Given the description of an element on the screen output the (x, y) to click on. 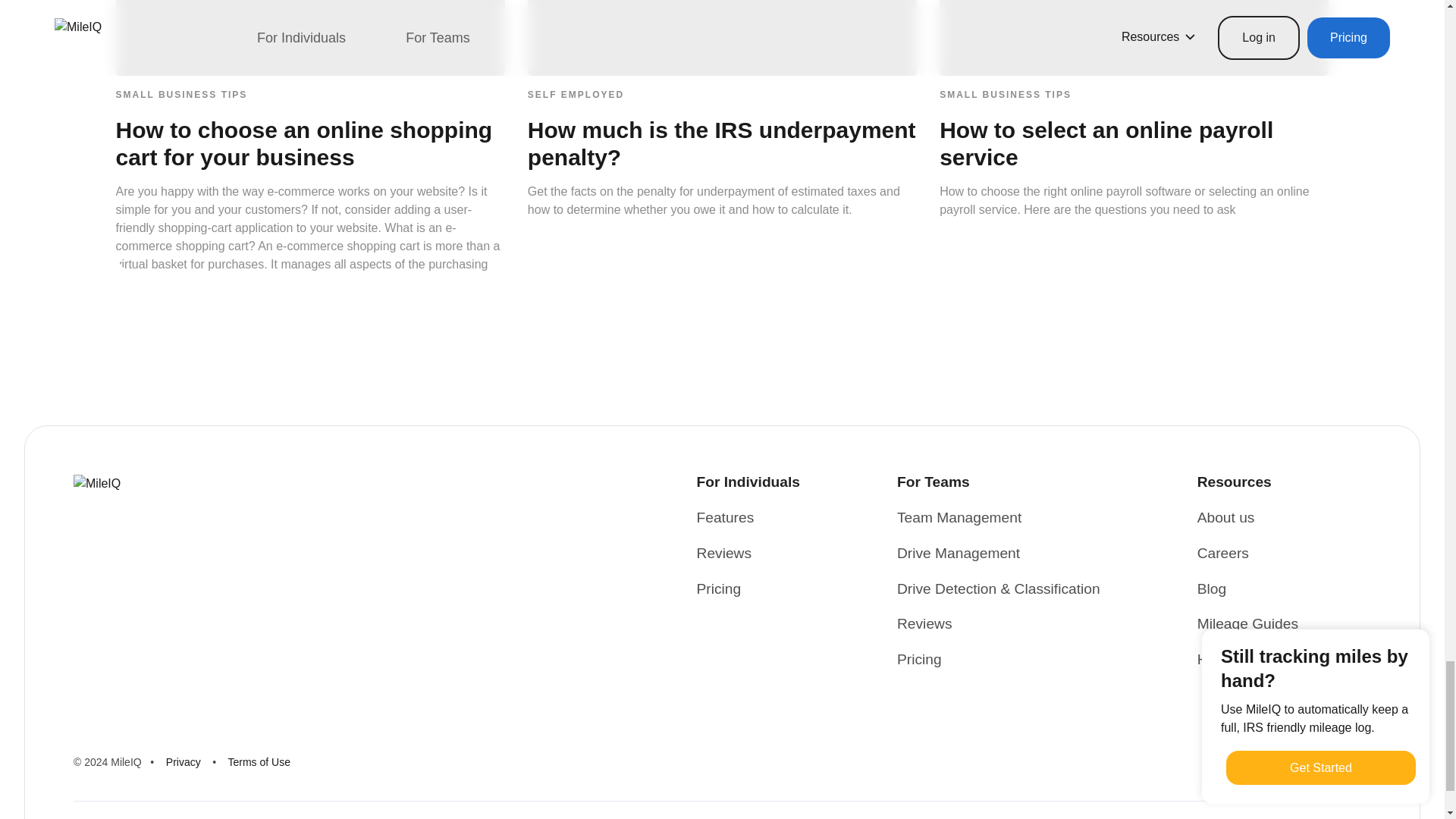
Features (725, 517)
